Given the description of an element on the screen output the (x, y) to click on. 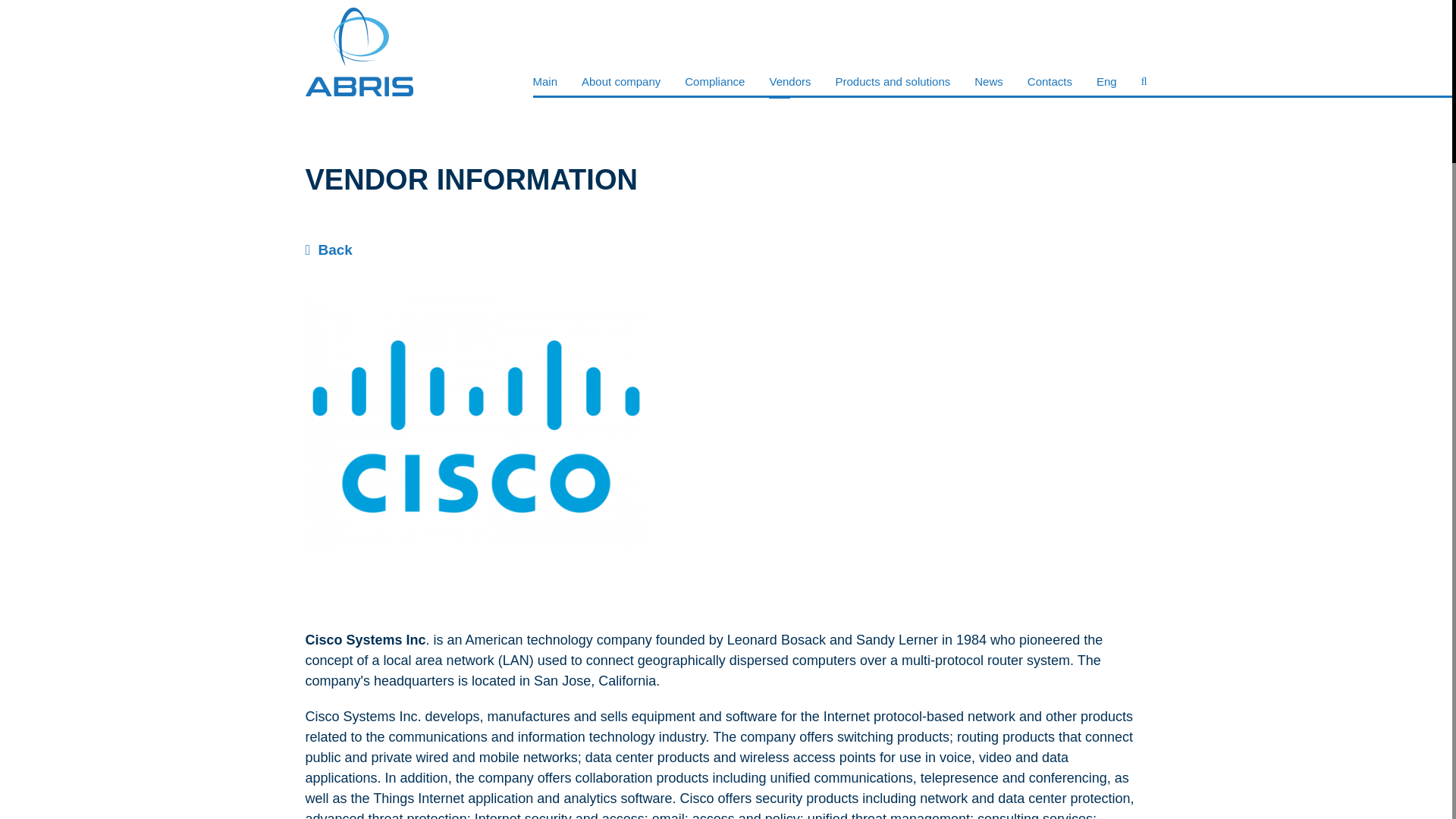
Contacts (1049, 81)
Eng (1106, 81)
Compliance (714, 81)
News (988, 81)
Main (544, 81)
Vendors (789, 81)
About company (620, 81)
Products and solutions (892, 81)
Back (725, 250)
